Given the description of an element on the screen output the (x, y) to click on. 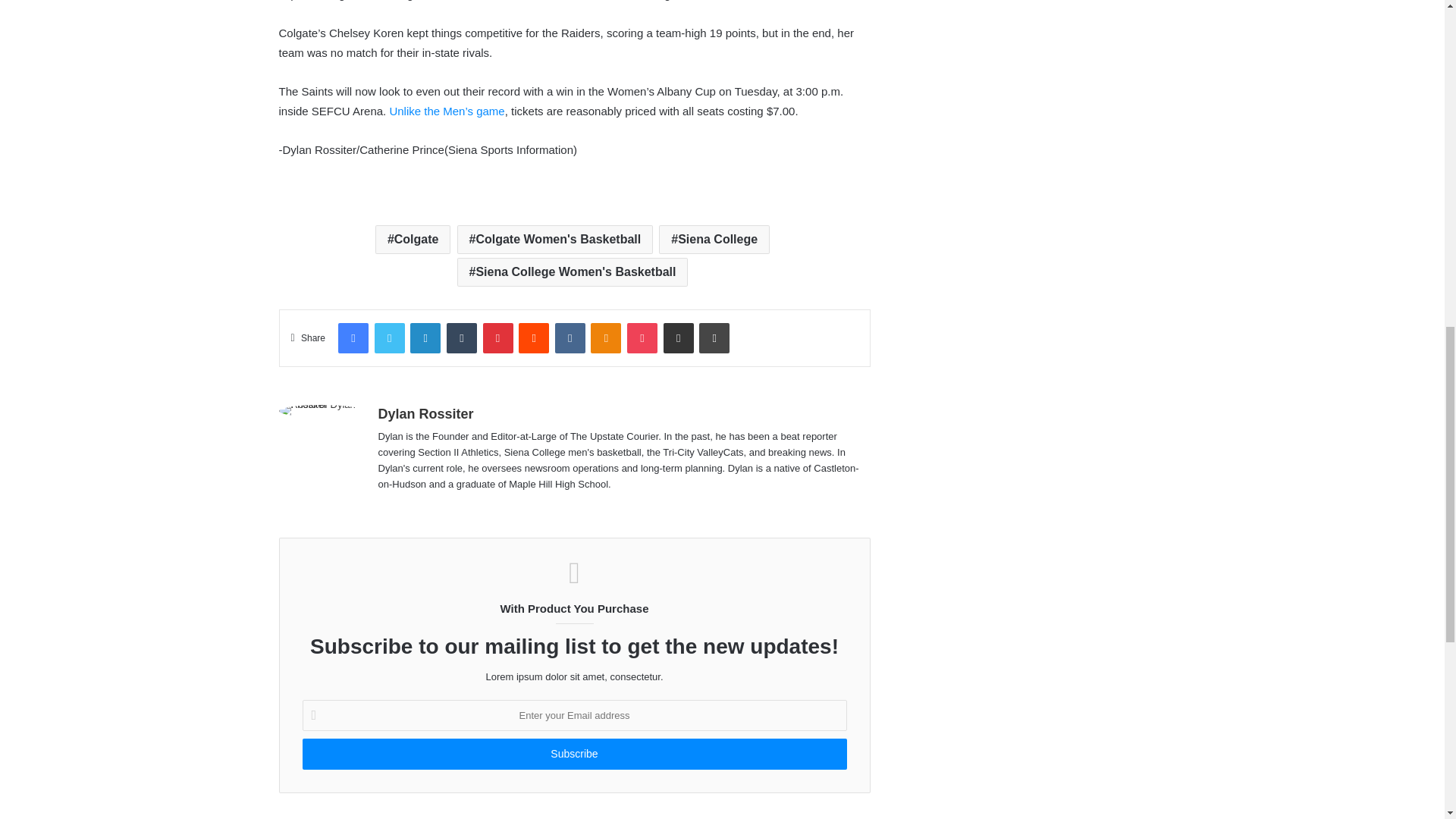
Facebook (352, 337)
LinkedIn (425, 337)
Tumblr (461, 337)
Siena College (714, 239)
Colgate (413, 239)
Siena College Women's Basketball (572, 271)
Pinterest (496, 337)
Twitter (389, 337)
Subscribe (573, 753)
Colgate Women's Basketball (555, 239)
